Given the description of an element on the screen output the (x, y) to click on. 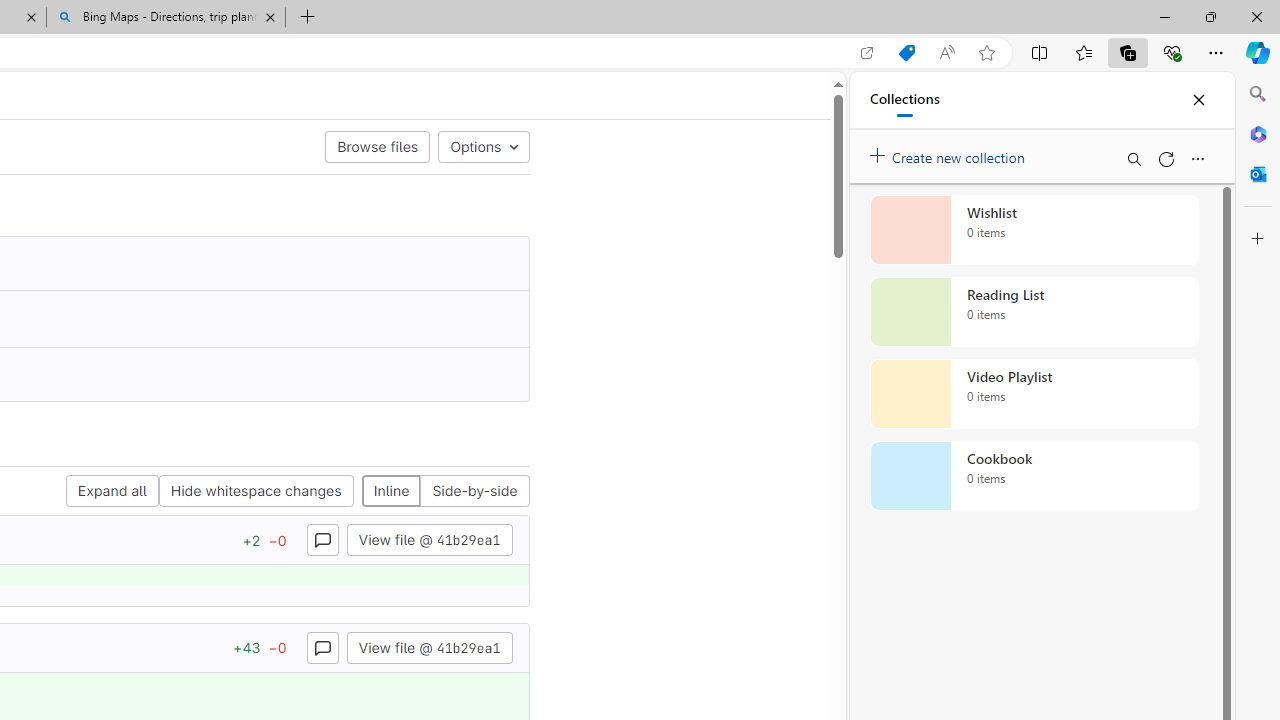
Read aloud this page (Ctrl+Shift+U) (946, 53)
Create new collection (950, 153)
Class: s16 gl-icon gl-button-icon  (322, 647)
Shopping in Microsoft Edge (906, 53)
Search (1258, 94)
Browse files (378, 146)
Split screen (1039, 52)
Favorites (1083, 52)
Reading List collection, 0 items (1034, 312)
Open in app (867, 53)
Side-by-side (474, 491)
